Given the description of an element on the screen output the (x, y) to click on. 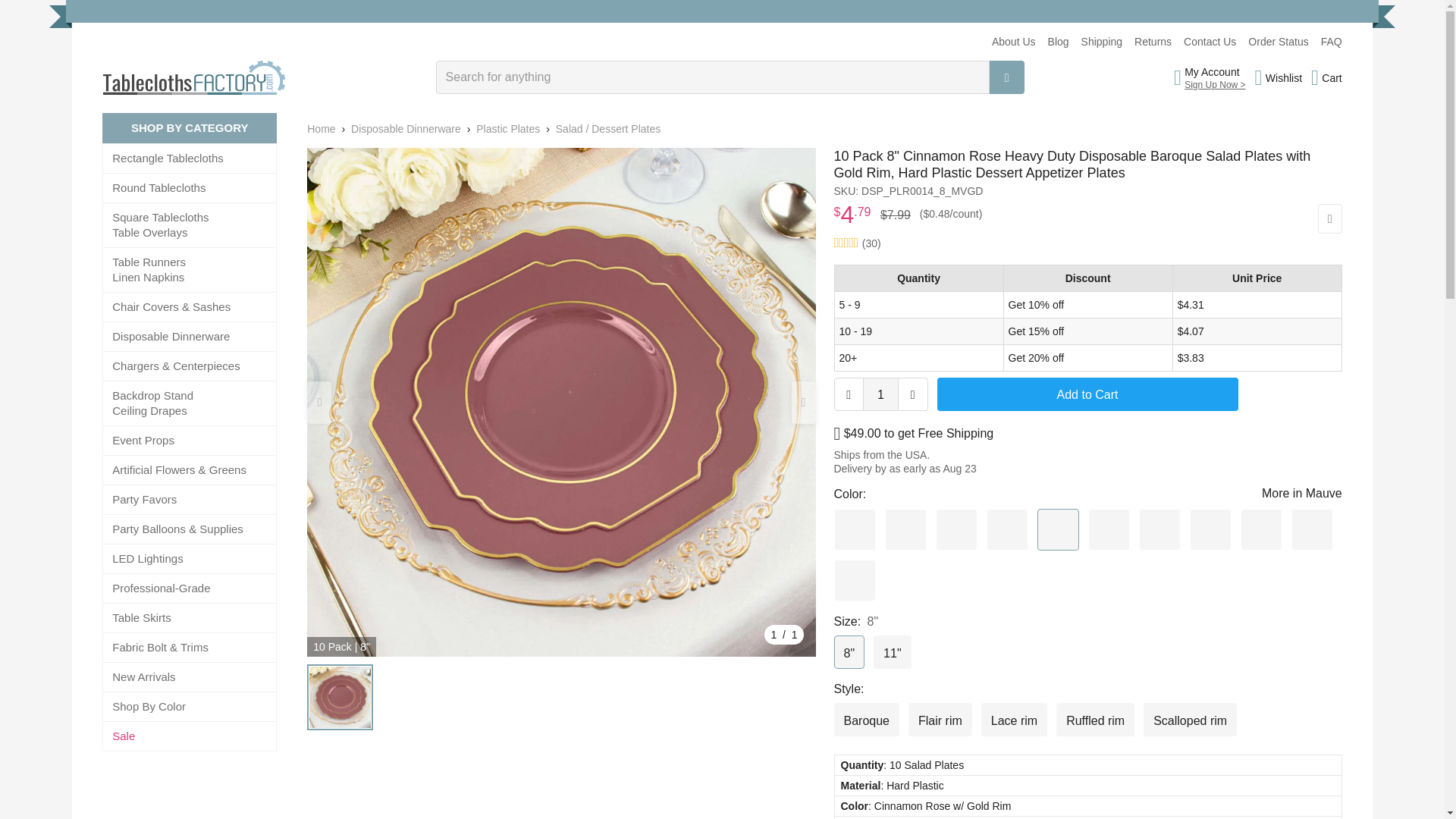
Order Status (1277, 41)
Flair rim (940, 719)
Returns (1153, 41)
My Account (1214, 71)
Wishlist (1278, 77)
Contact Us (1209, 41)
Scalloped rim (1189, 719)
Ruffled rim (1095, 719)
About Us (1013, 41)
Gold (1108, 529)
